Given the description of an element on the screen output the (x, y) to click on. 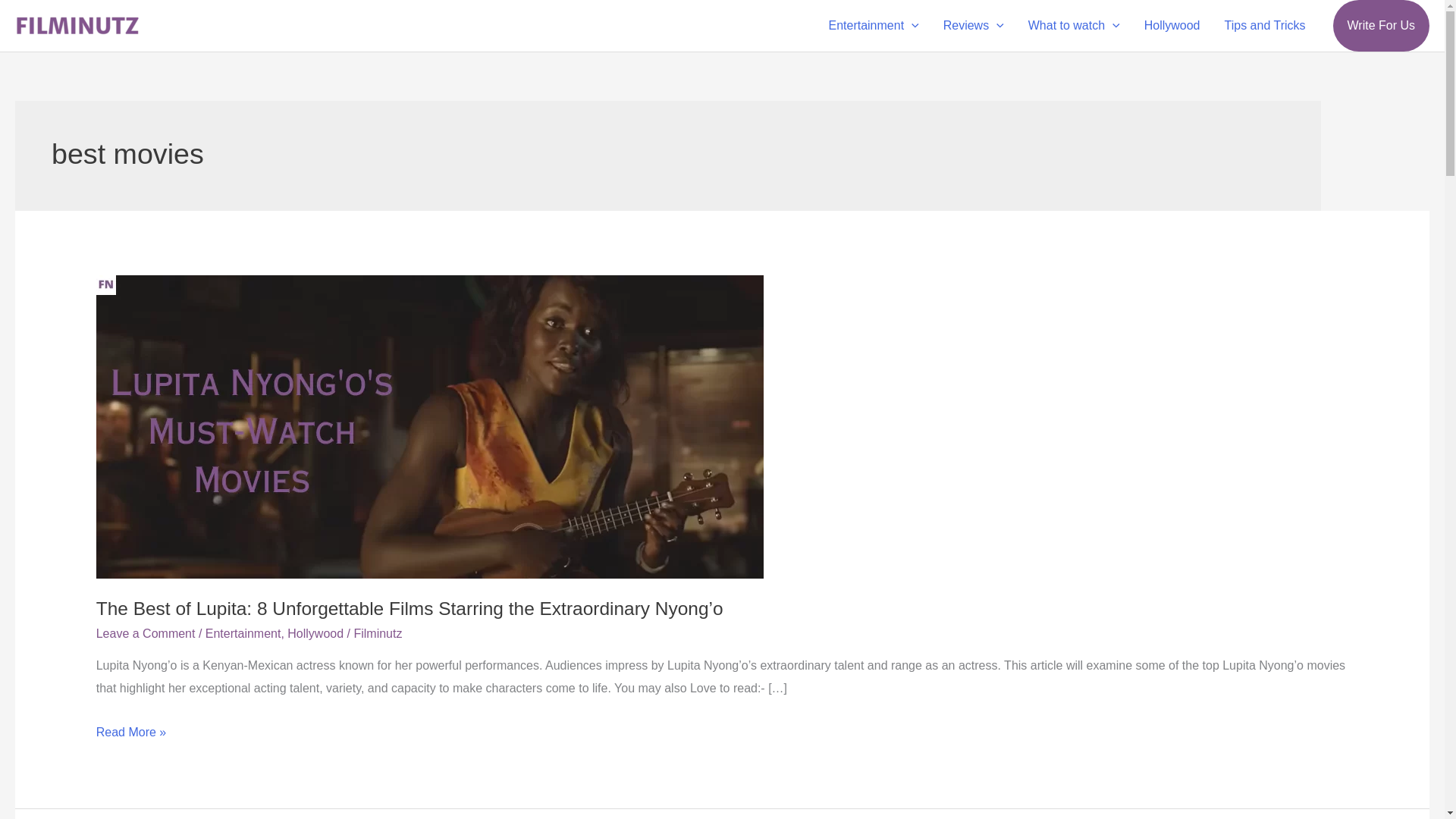
Reviews (973, 25)
Write For Us (1381, 25)
Entertainment (872, 25)
Tips and Tricks (1264, 25)
What to watch (1074, 25)
Hollywood (1172, 25)
Entertainment (243, 633)
Leave a Comment (145, 633)
View all posts by Filminutz (377, 633)
